Given the description of an element on the screen output the (x, y) to click on. 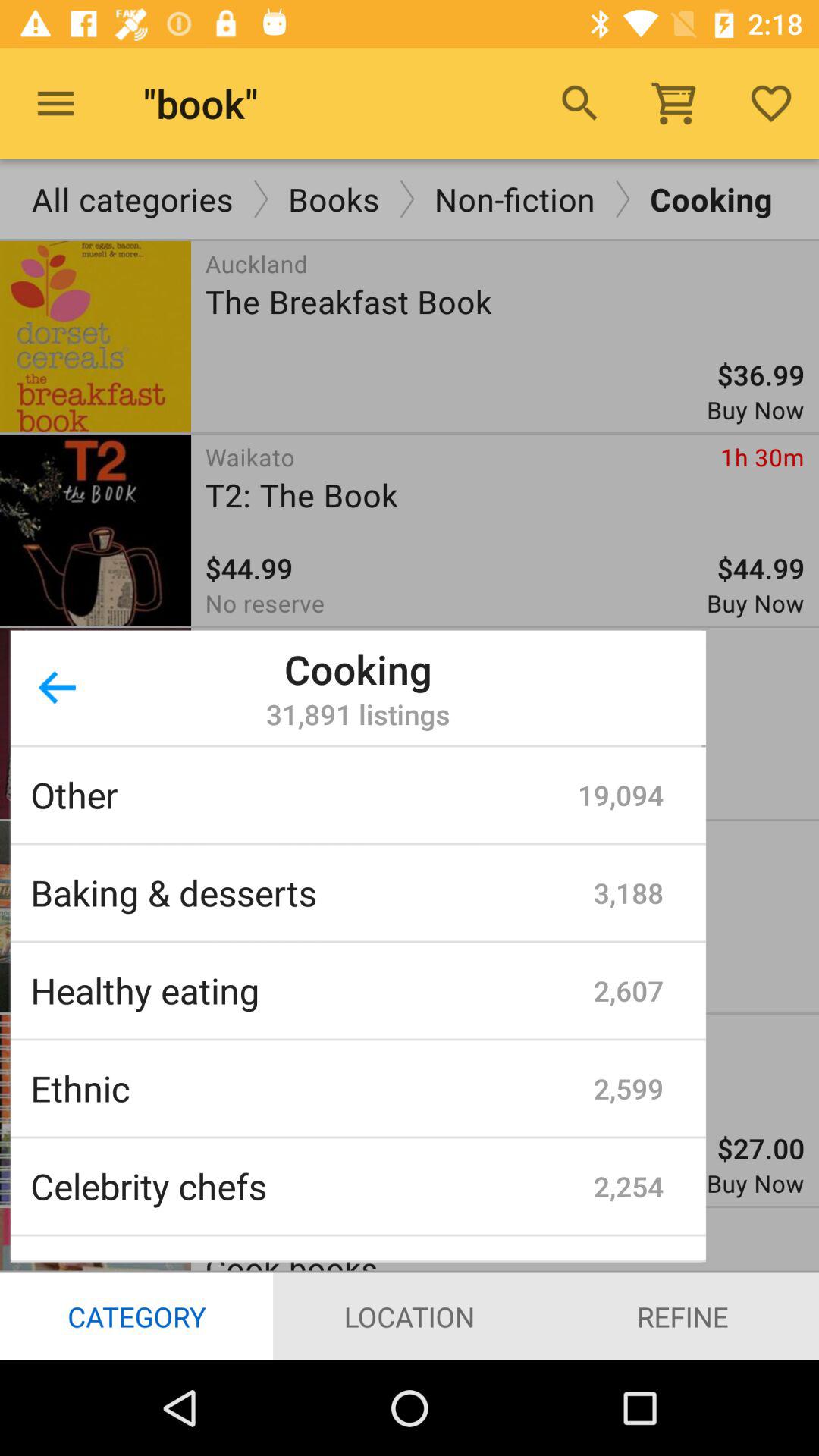
launch the item below 19,094 item (628, 892)
